Given the description of an element on the screen output the (x, y) to click on. 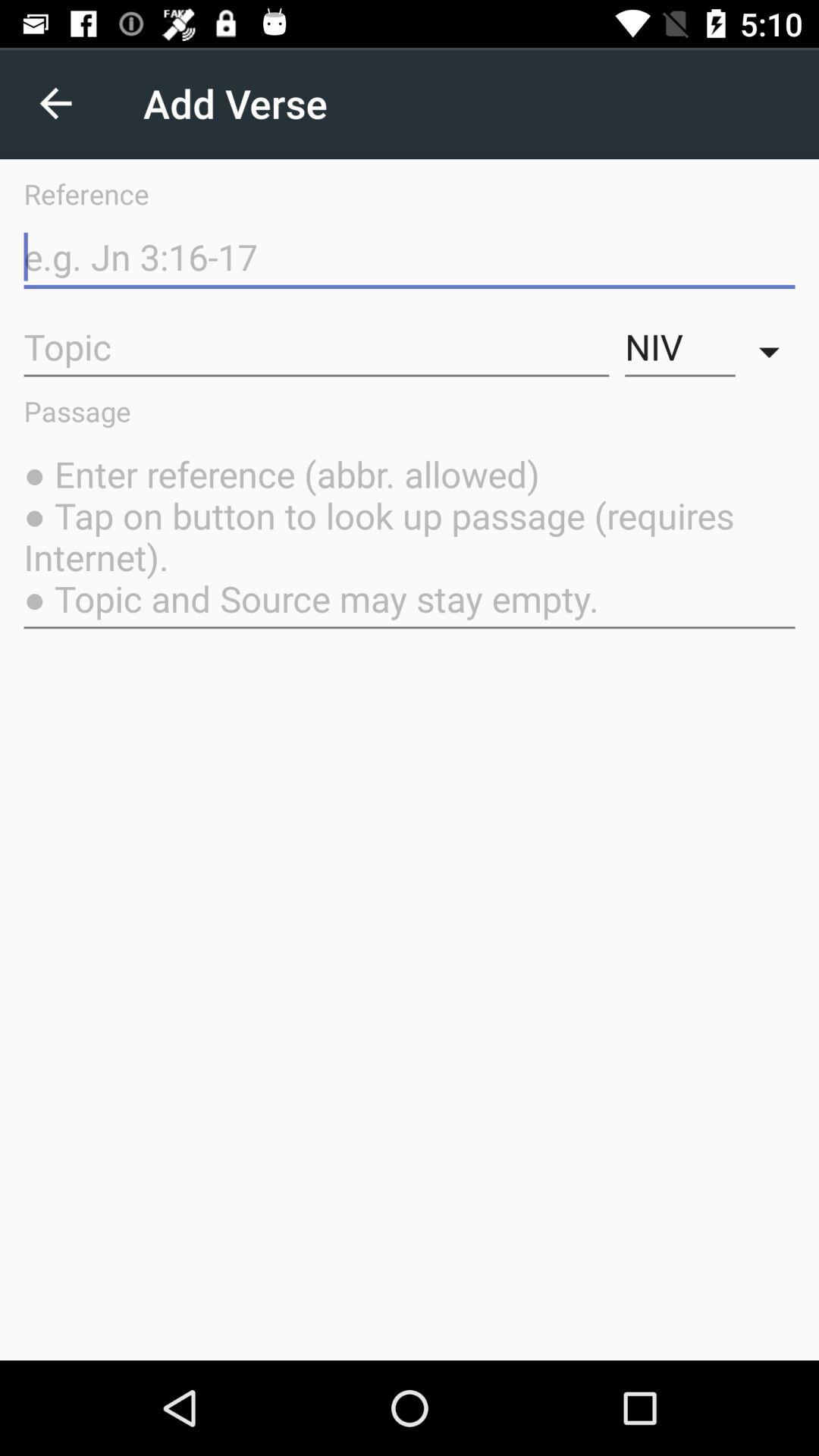
choose item above the passage (316, 347)
